Given the description of an element on the screen output the (x, y) to click on. 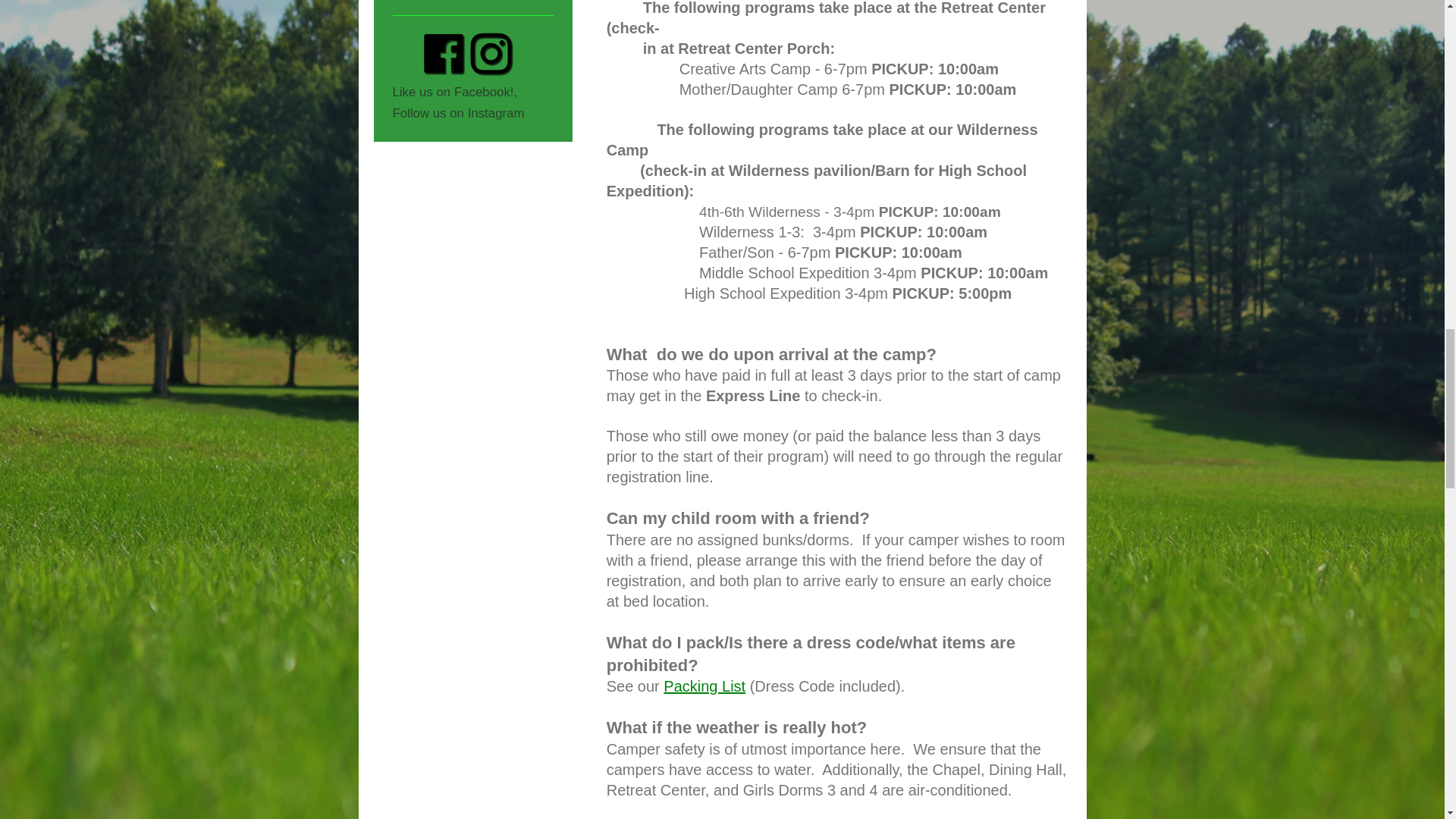
Like us on Facebook!, Follow us on Instagram (473, 63)
